Given the description of an element on the screen output the (x, y) to click on. 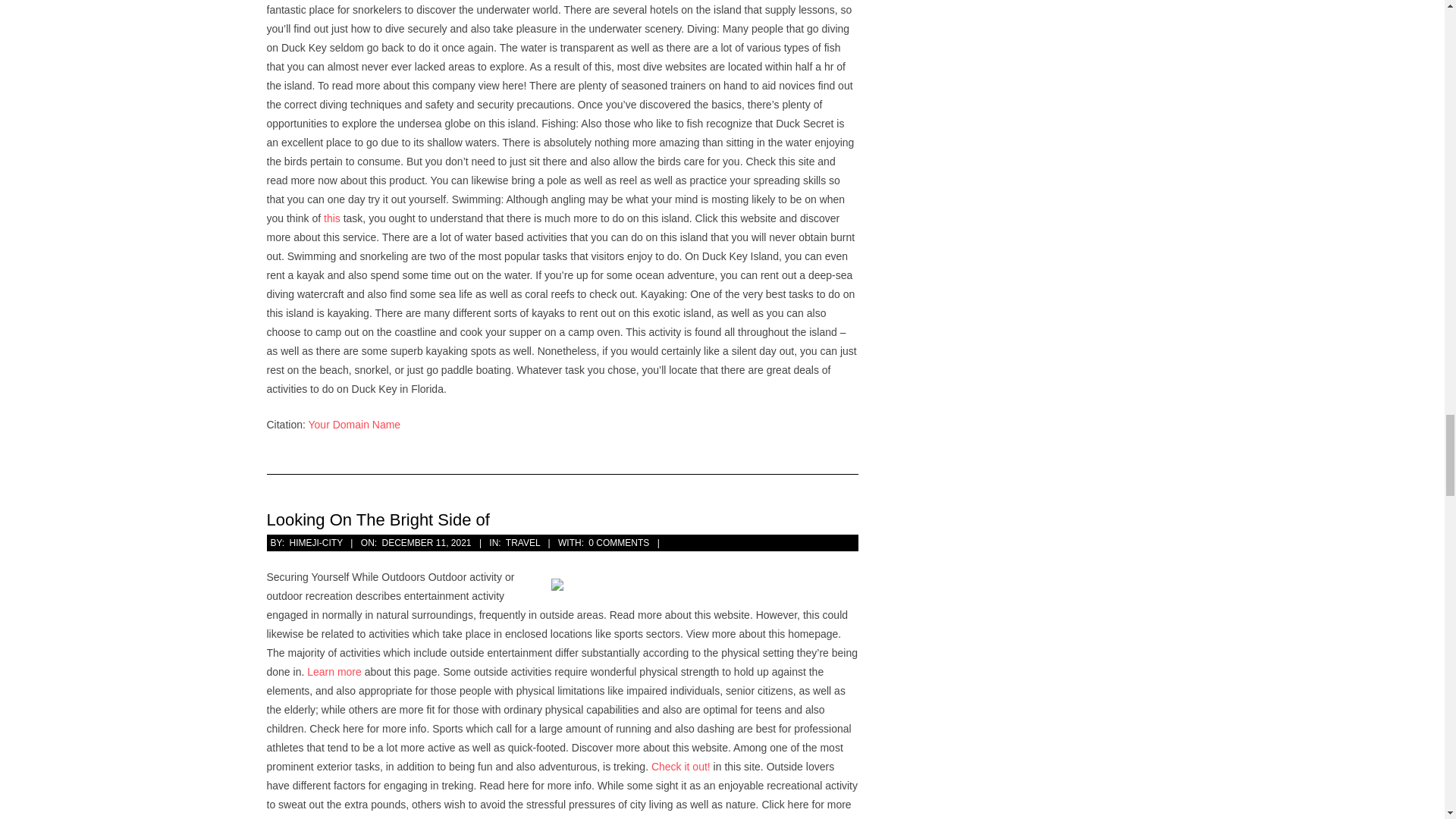
Saturday, December 11, 2021, 9:09 am (425, 542)
Posts by himeji-city (315, 542)
